Given the description of an element on the screen output the (x, y) to click on. 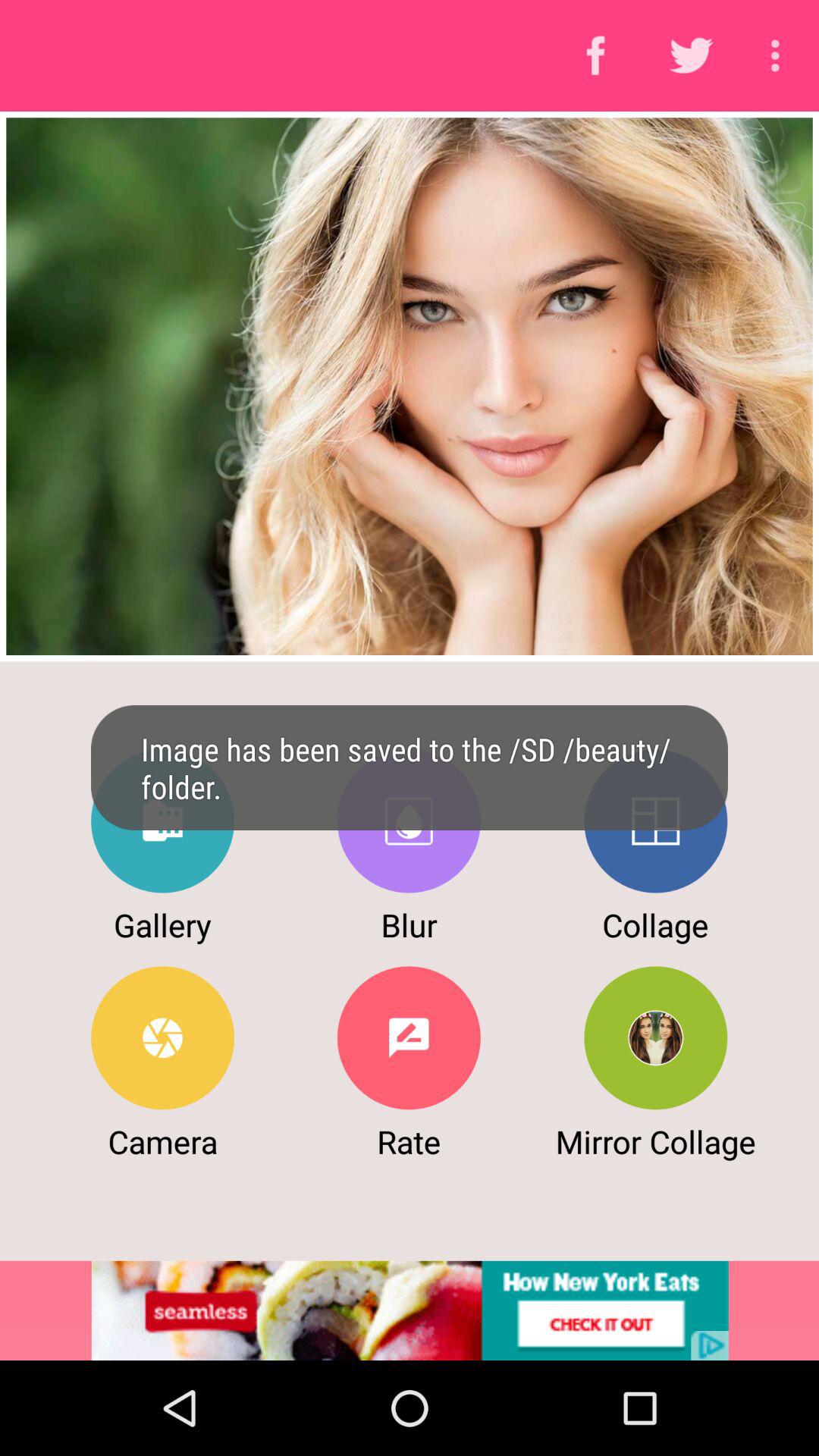
go to camera (162, 1037)
